Given the description of an element on the screen output the (x, y) to click on. 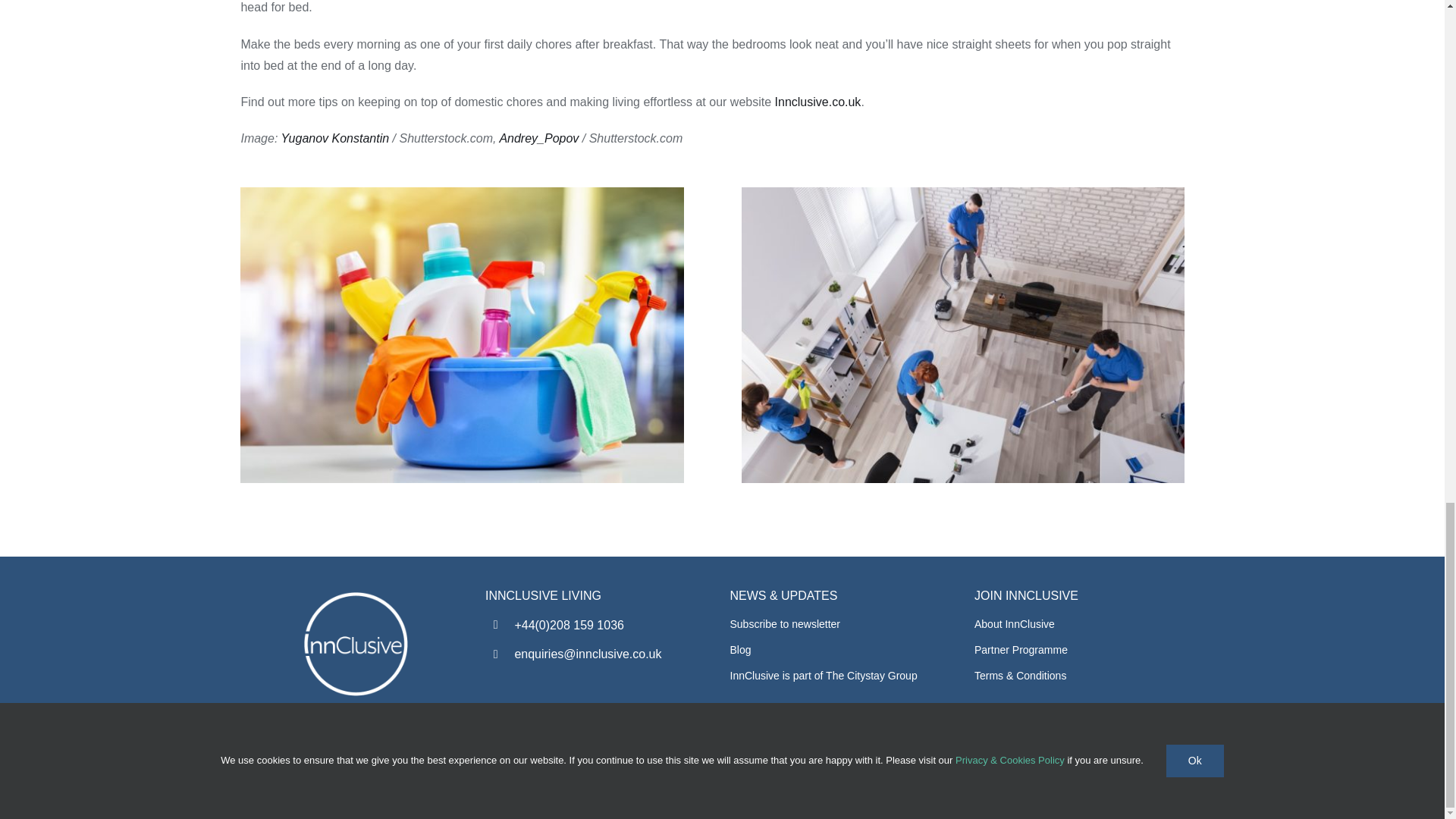
Cleaning items (461, 335)
Cleaning in action (963, 335)
